Given the description of an element on the screen output the (x, y) to click on. 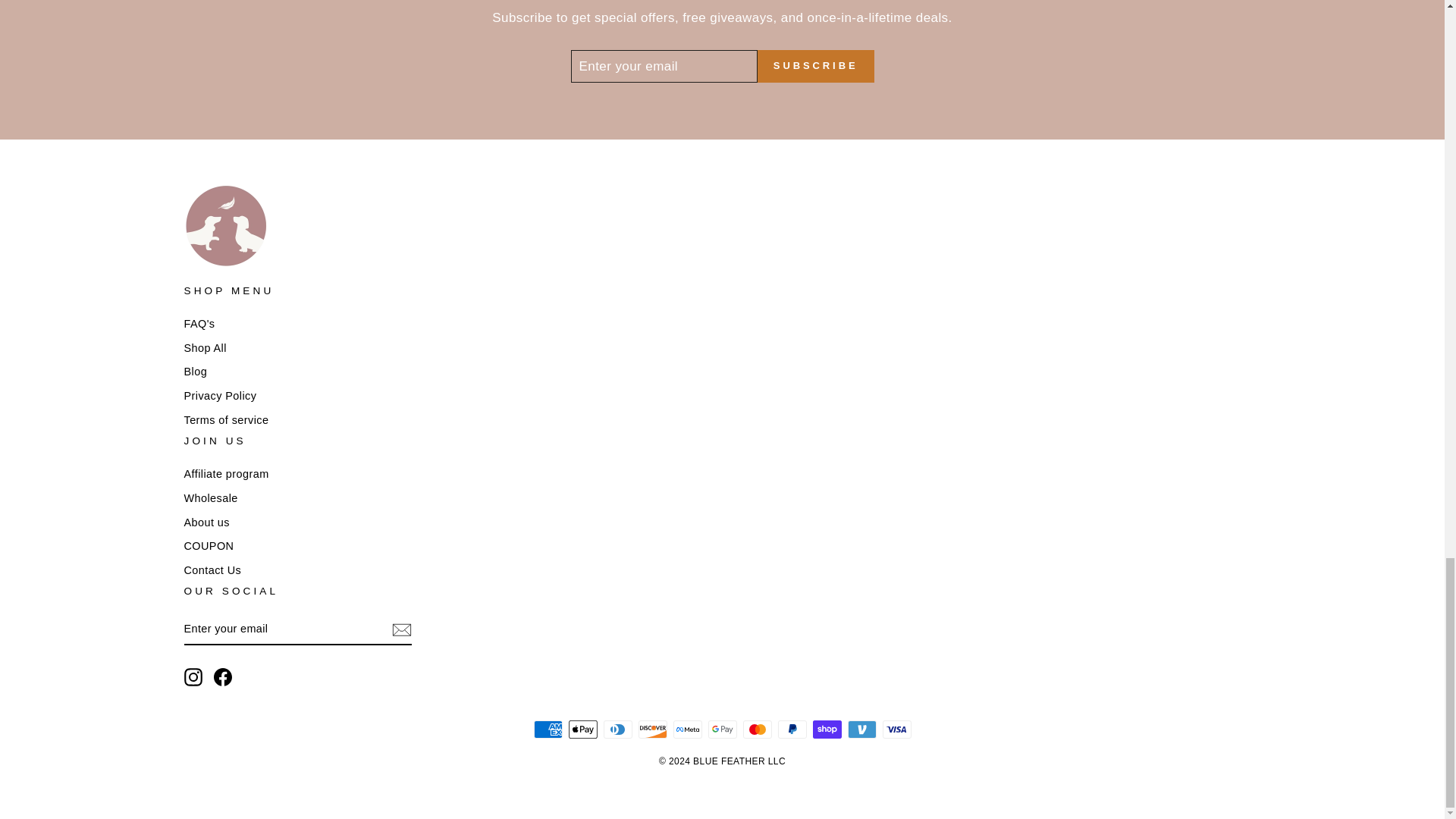
Meta Pay (686, 729)
PayPal (791, 729)
Discover (652, 729)
BLUE FEATHER LLC on Instagram (192, 677)
Diners Club (617, 729)
Shop Pay (826, 729)
Apple Pay (582, 729)
Google Pay (721, 729)
Mastercard (756, 729)
BLUE FEATHER LLC on Facebook (222, 677)
